Given the description of an element on the screen output the (x, y) to click on. 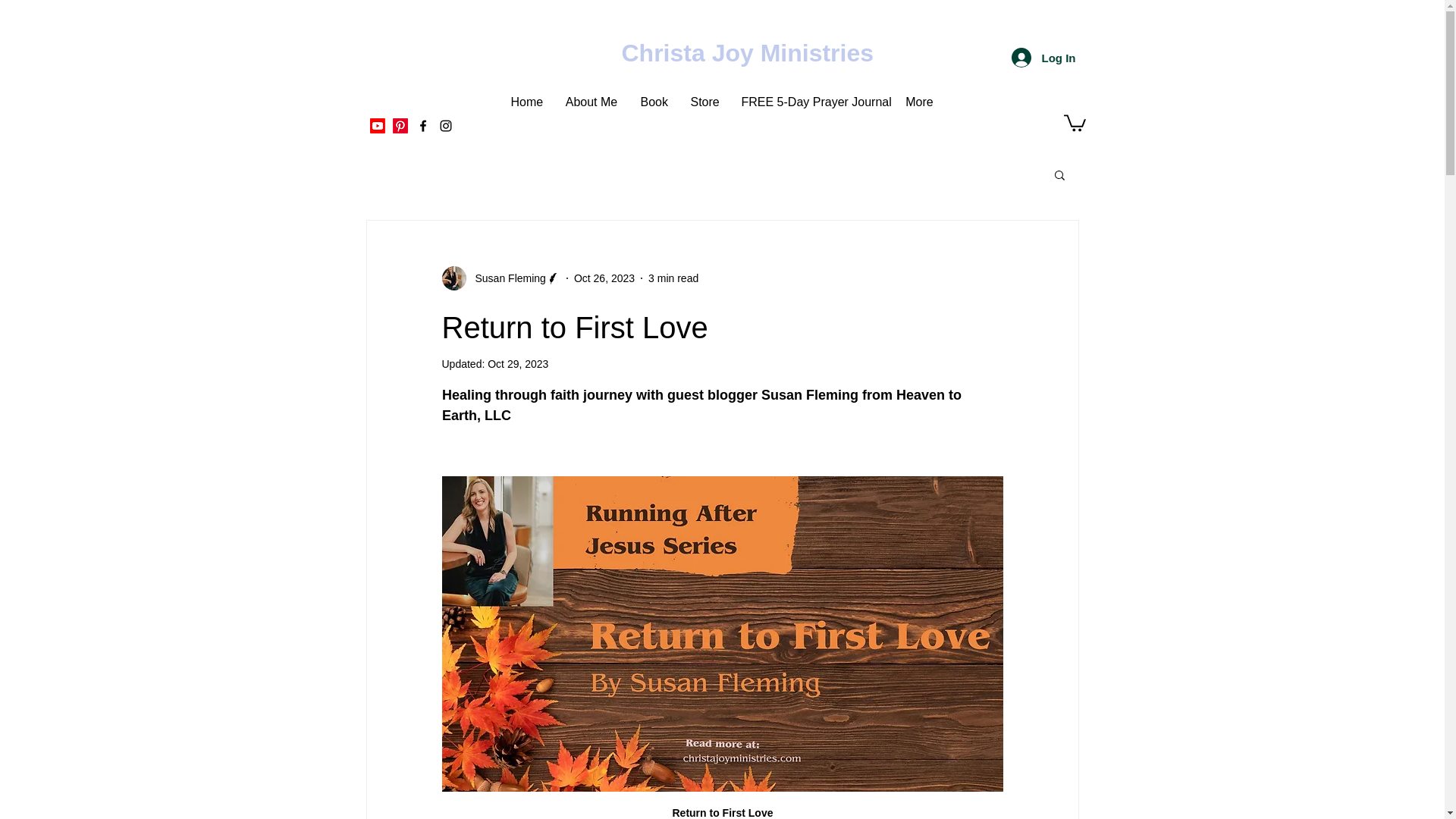
Susan Fleming (504, 278)
3 min read (672, 277)
FREE 5-Day Prayer Journal (811, 102)
Home (526, 102)
Christa Joy Ministries (748, 52)
Oct 29, 2023 (517, 363)
Oct 26, 2023 (603, 277)
Log In (1043, 57)
Store (704, 102)
Susan Fleming (500, 278)
